Given the description of an element on the screen output the (x, y) to click on. 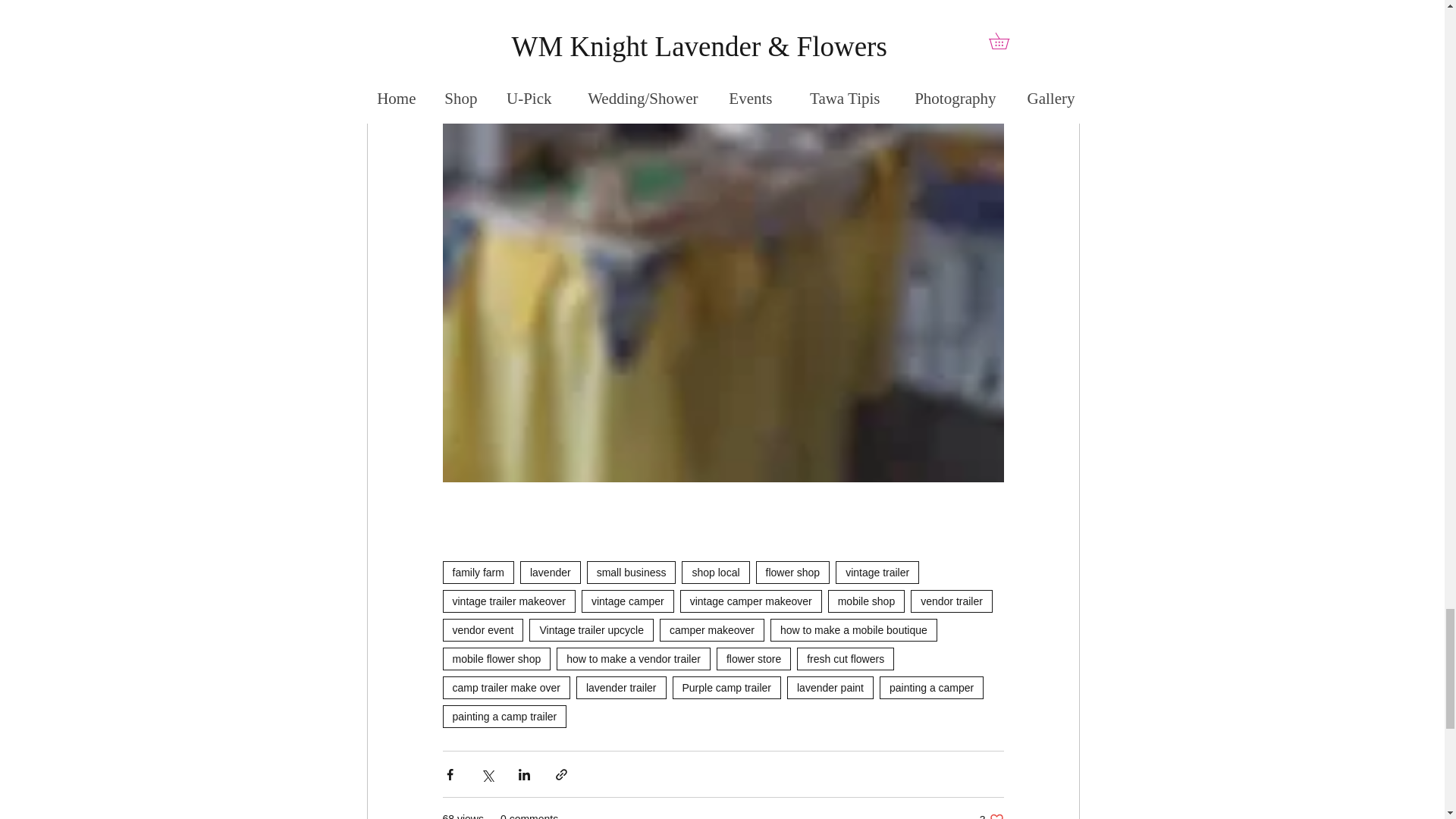
mobile shop (866, 600)
flower store (753, 658)
vintage trailer (876, 572)
camp trailer make over (506, 687)
camper makeover (711, 630)
vintage camper (627, 600)
small business (631, 572)
how to make a vendor trailer (633, 658)
vendor event (483, 630)
family farm (477, 572)
shop local (715, 572)
painting a camper (931, 687)
how to make a mobile boutique (853, 630)
Purple camp trailer (725, 687)
fresh cut flowers (844, 658)
